Given the description of an element on the screen output the (x, y) to click on. 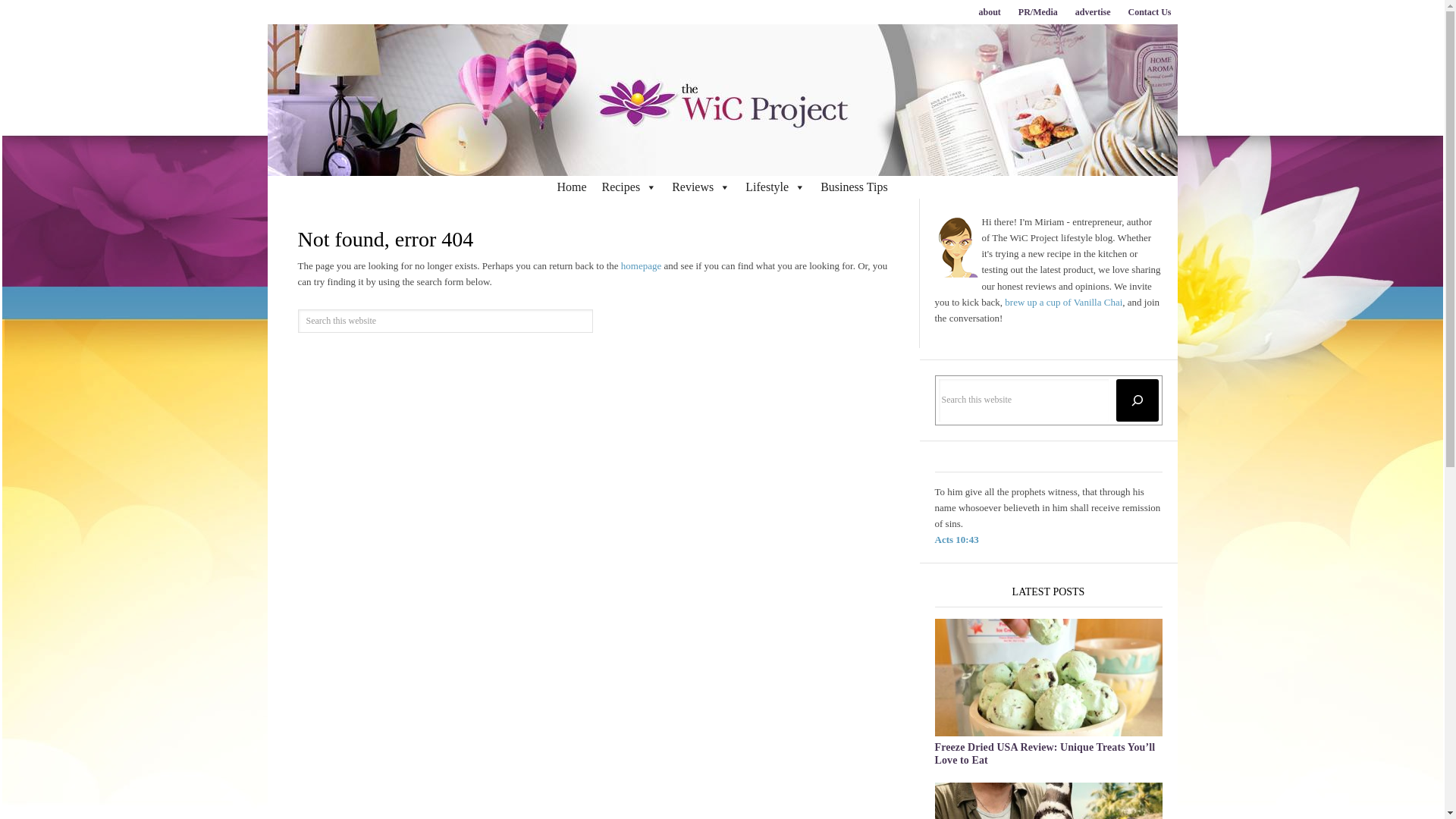
Lifestyle (775, 187)
advertise (1092, 12)
Home (571, 187)
Reviews (700, 187)
Business Tips (853, 187)
about (989, 12)
Recipes (628, 187)
Contact Us (1149, 12)
